Given the description of an element on the screen output the (x, y) to click on. 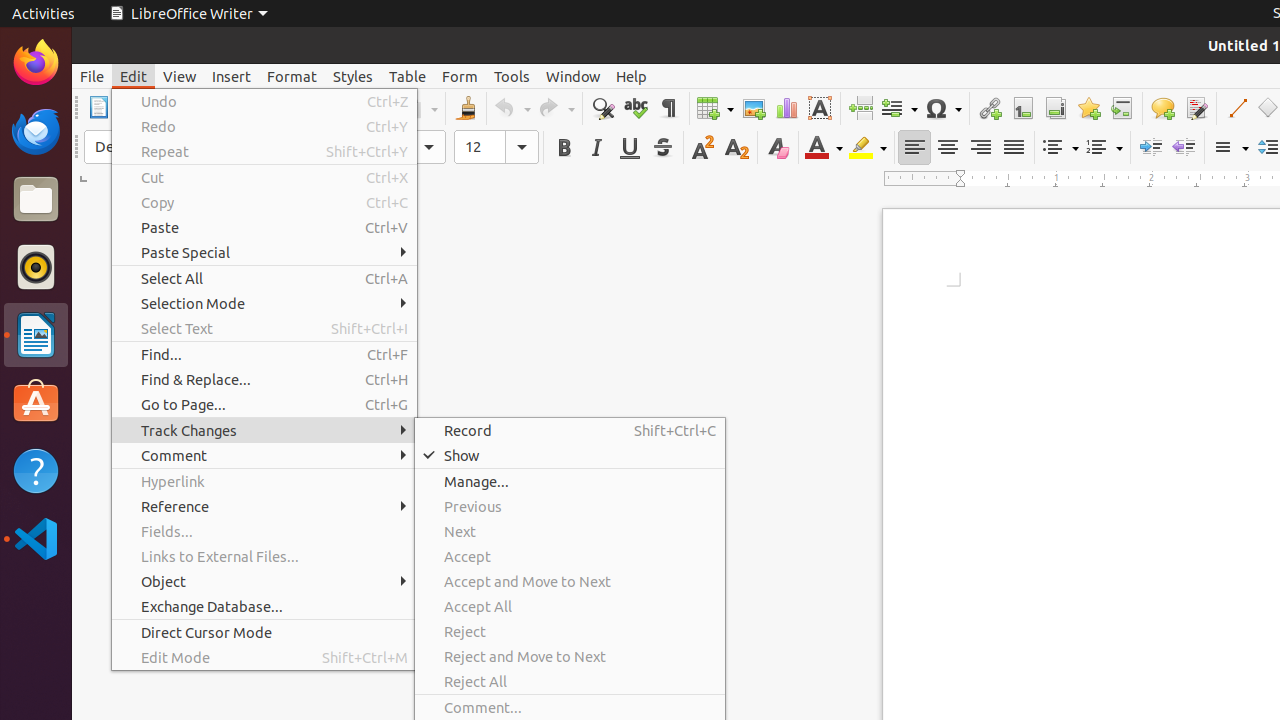
Symbol Element type: push-button (943, 108)
Bullets Element type: push-button (1060, 147)
Justified Element type: toggle-button (1013, 147)
Cross-reference Element type: push-button (1121, 108)
Field Element type: push-button (899, 108)
